Given the description of an element on the screen output the (x, y) to click on. 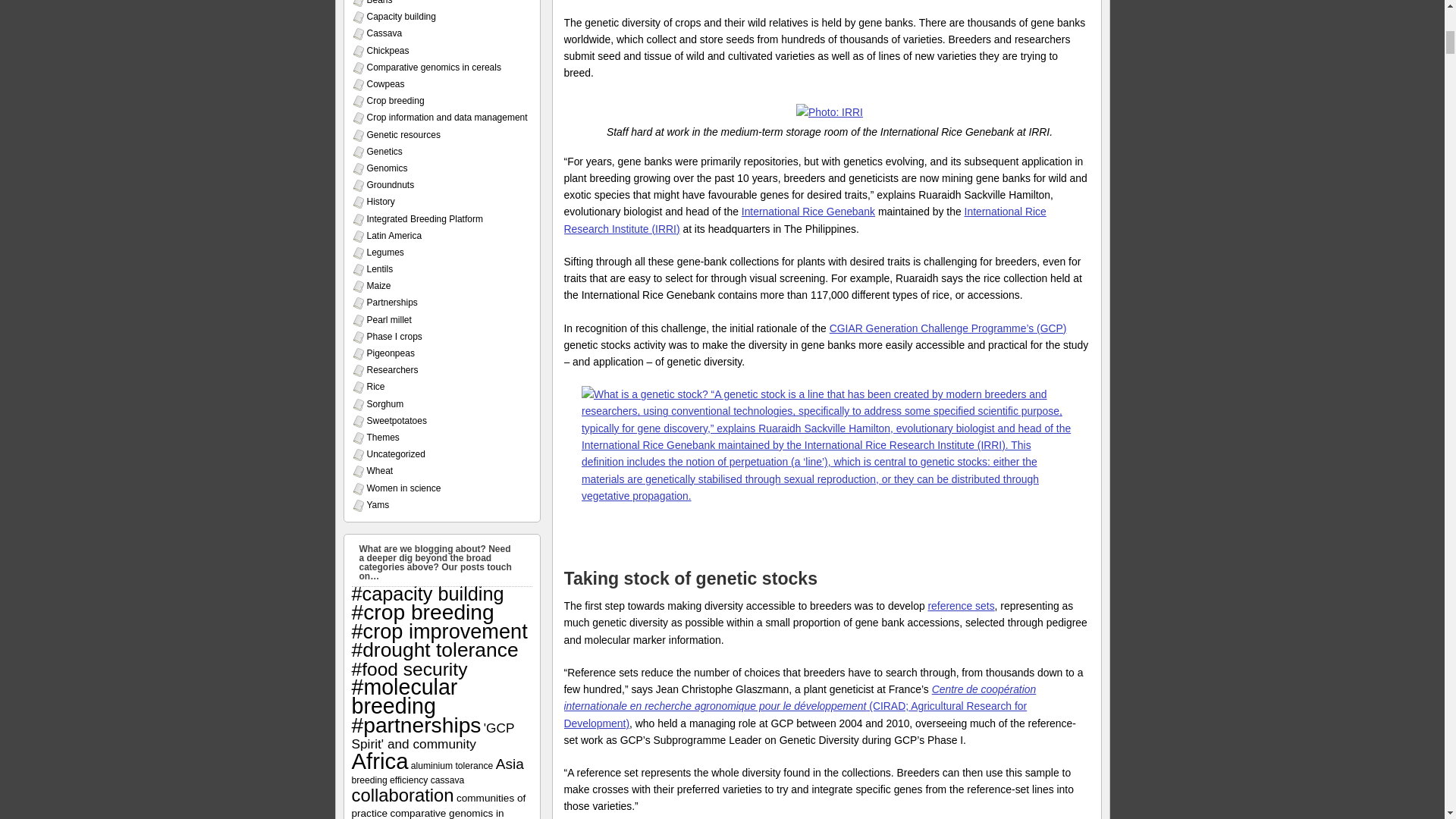
International Rice Genebank (808, 211)
reference sets (960, 605)
Photo: IRRI (829, 112)
